Given the description of an element on the screen output the (x, y) to click on. 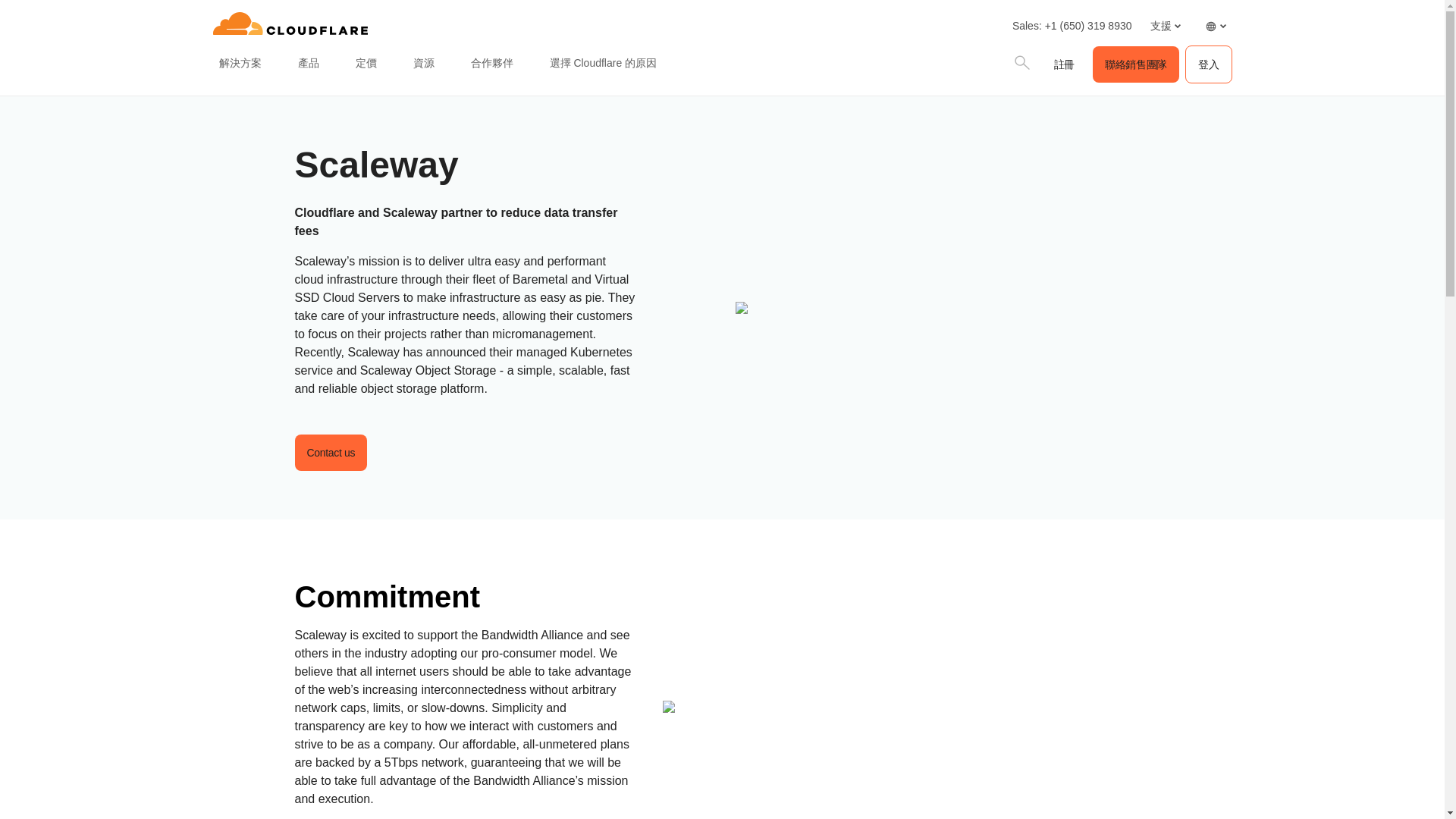
Contact us (330, 452)
